Given the description of an element on the screen output the (x, y) to click on. 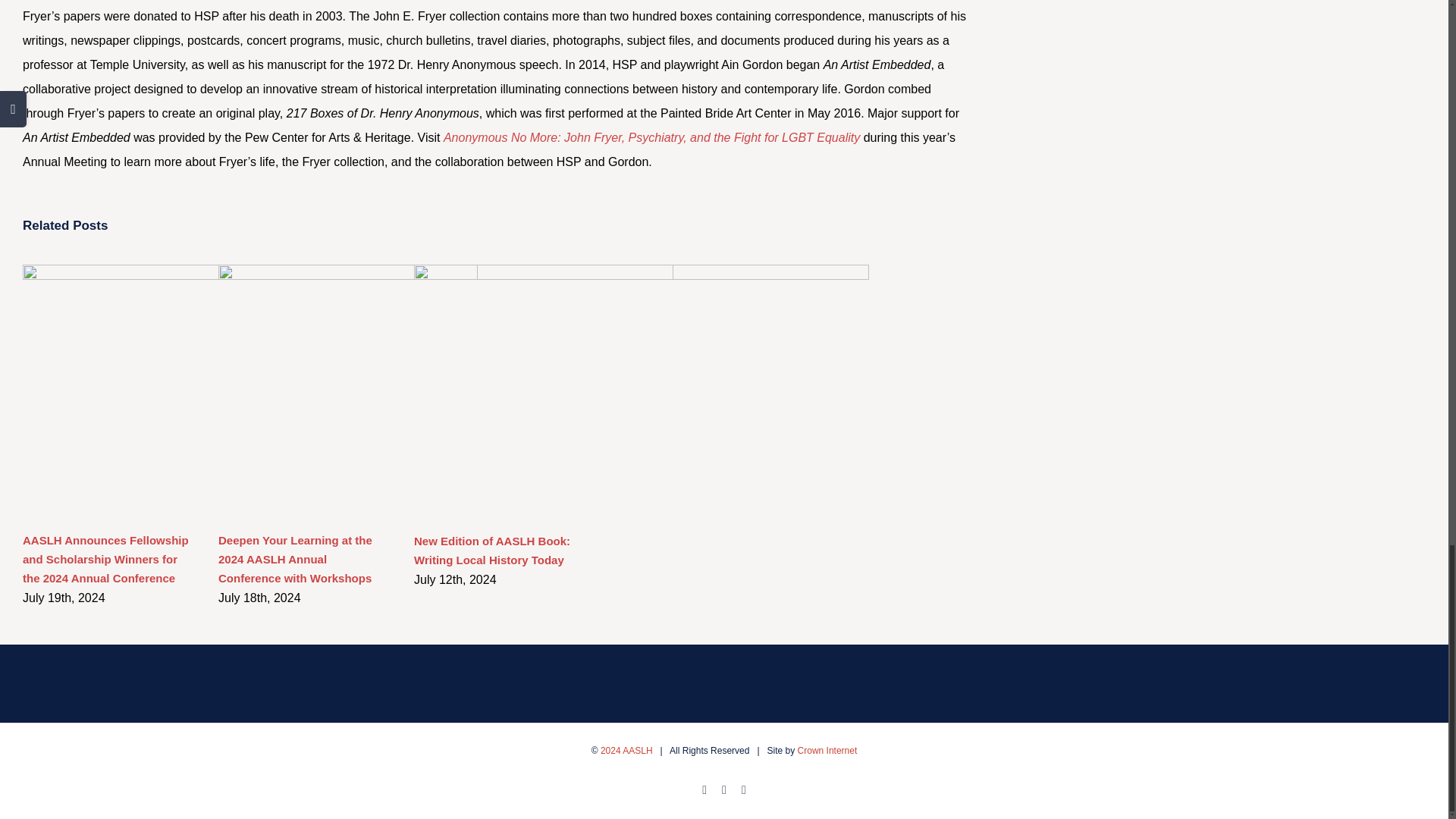
New Edition of AASLH Book: Writing Local History Today (491, 550)
